Given the description of an element on the screen output the (x, y) to click on. 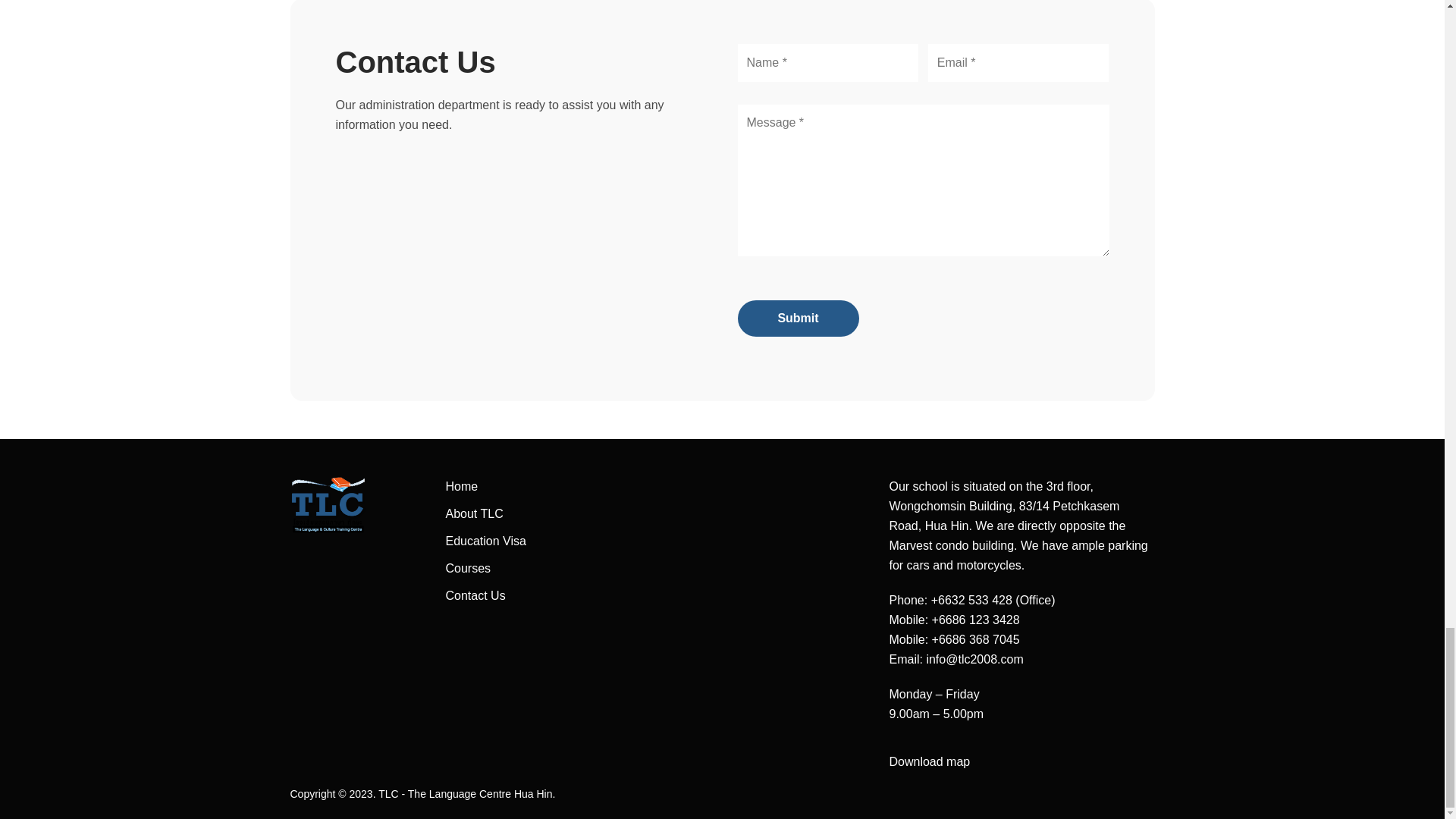
Home (462, 486)
Download map (928, 761)
Courses (468, 567)
About TLC (474, 513)
Contact Us (475, 594)
Submit (797, 318)
Education Visa (485, 540)
Submit (797, 318)
